Given the description of an element on the screen output the (x, y) to click on. 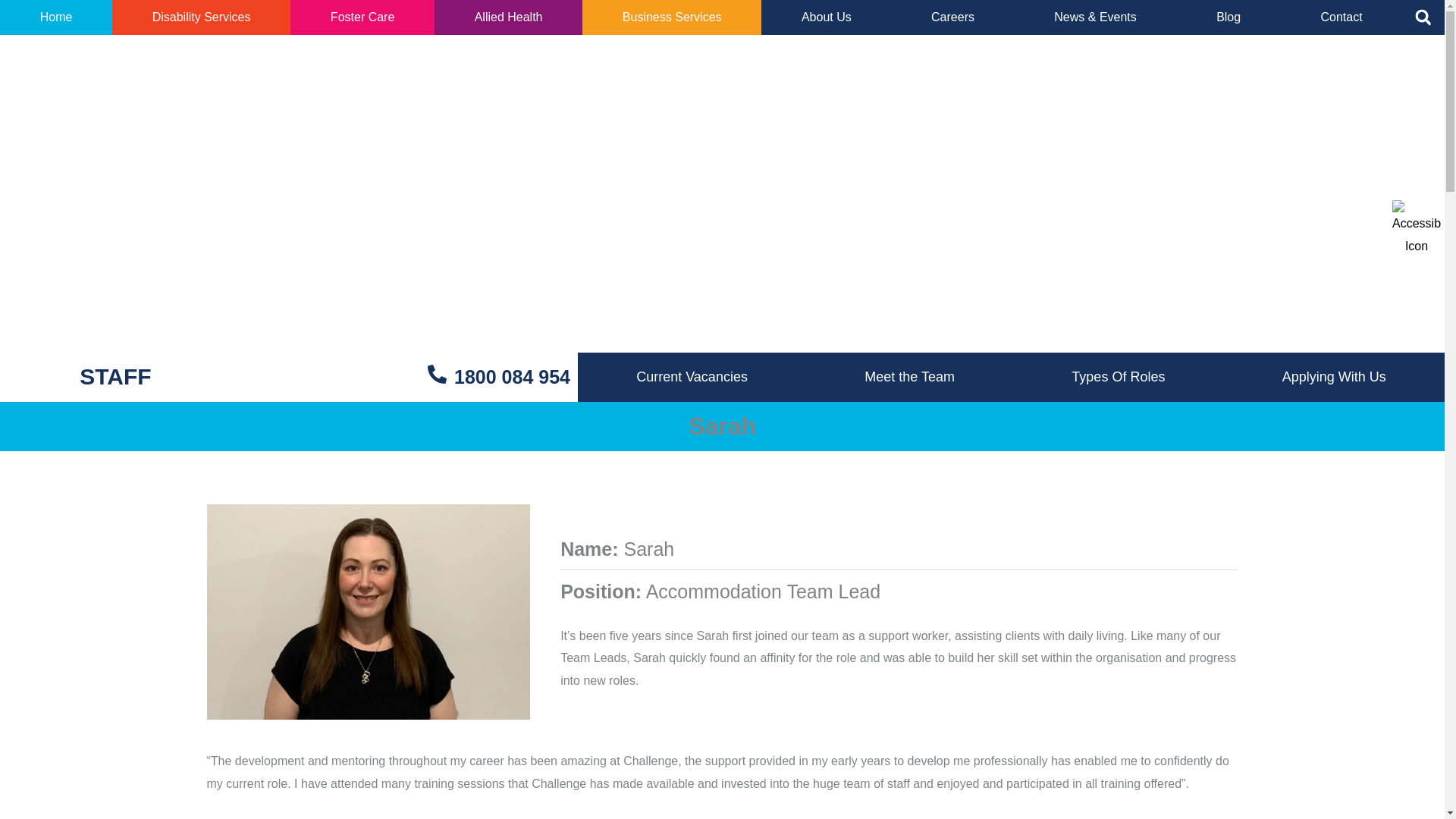
Disability Services (200, 17)
Business Services (671, 17)
About Us (826, 17)
Allied Health (507, 17)
Home (56, 17)
Foster Care (361, 17)
